Given the description of an element on the screen output the (x, y) to click on. 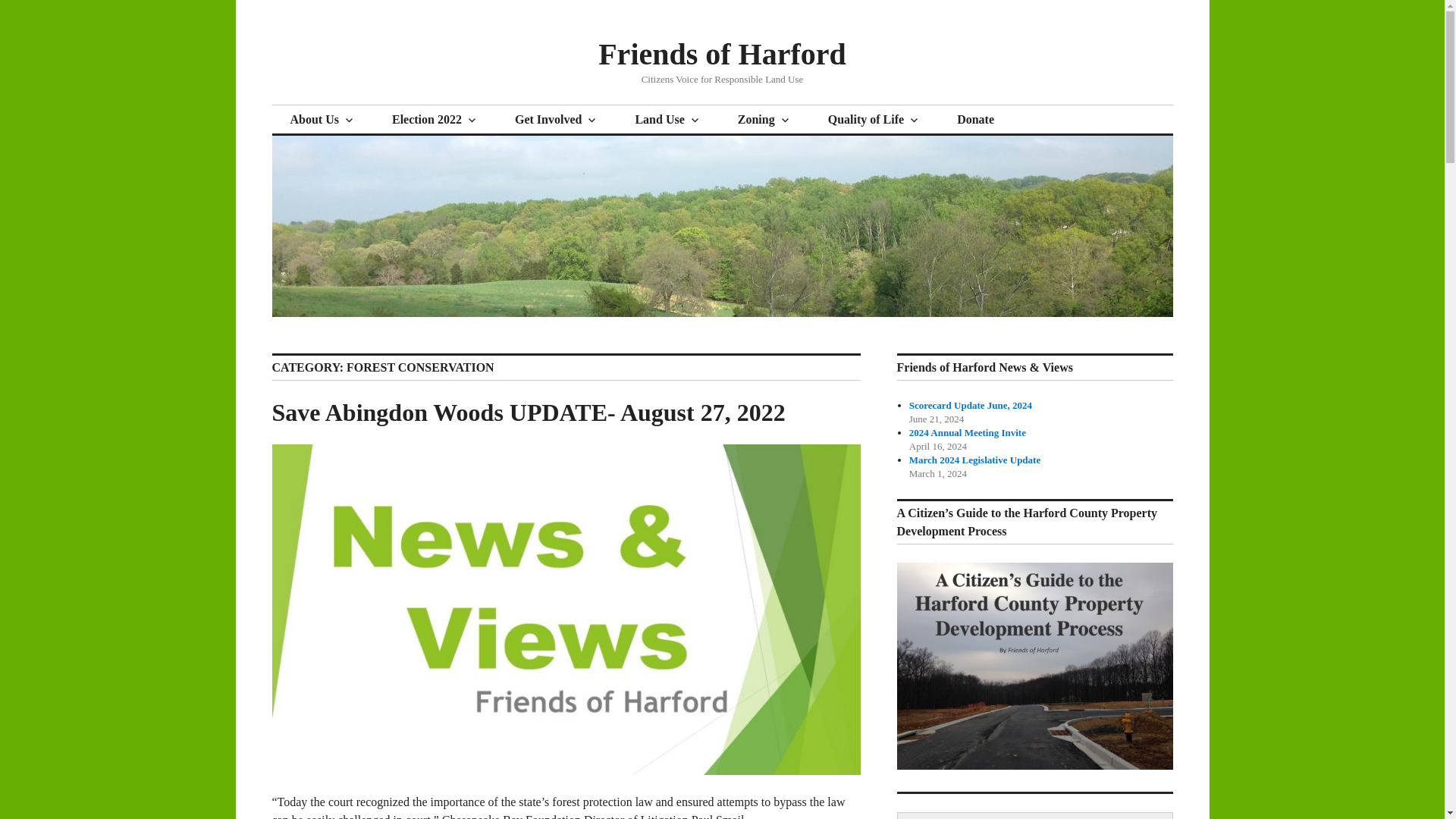
Friends of Harford (721, 53)
Election 2022 (435, 119)
Friends of Harford- About Us (321, 119)
About Us (321, 119)
A Citizen's Guide (1034, 766)
Get Involved (555, 119)
Land Use (667, 119)
Zoning (764, 119)
